Given the description of an element on the screen output the (x, y) to click on. 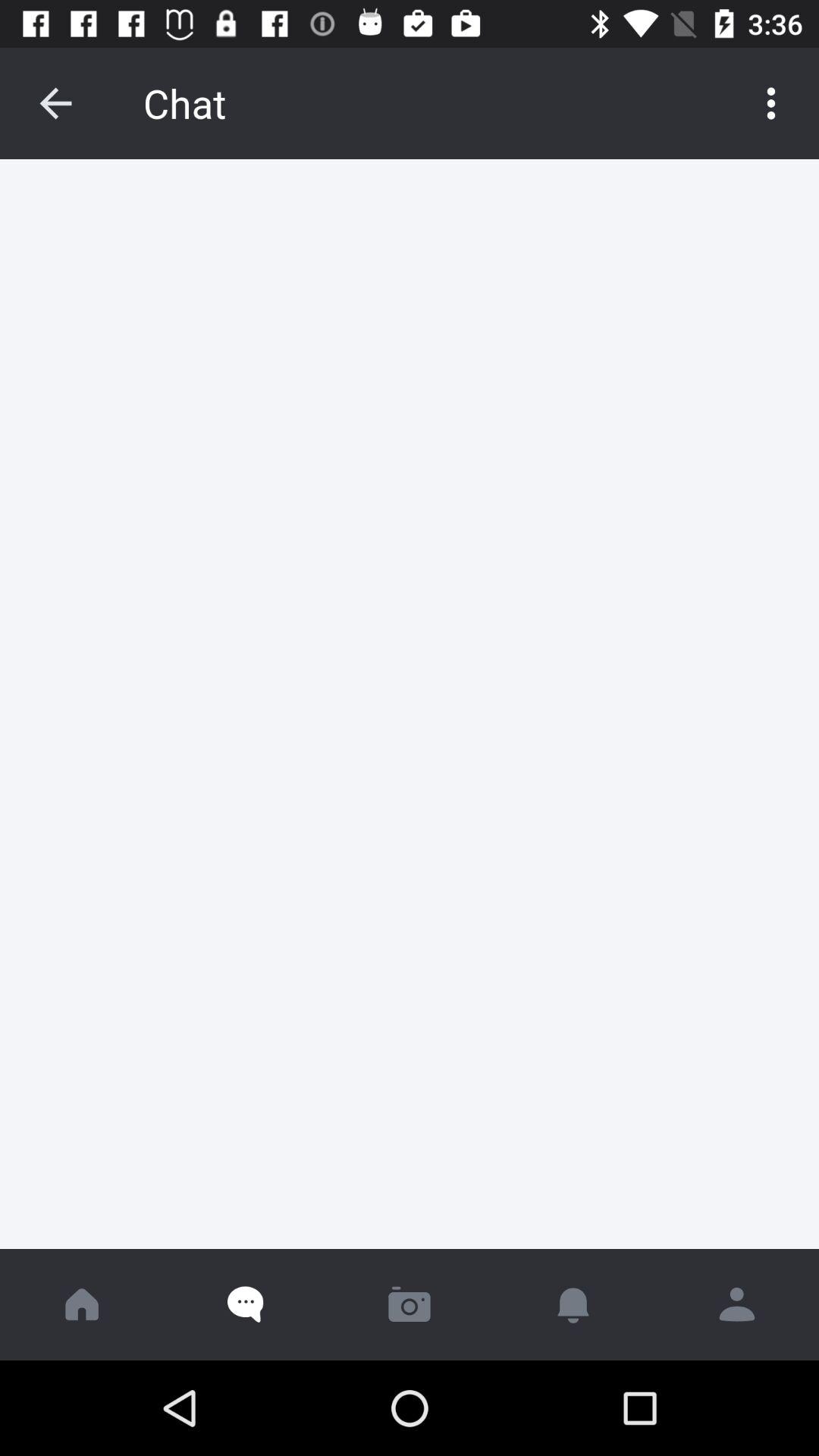
launch the item to the left of the chat icon (55, 103)
